Given the description of an element on the screen output the (x, y) to click on. 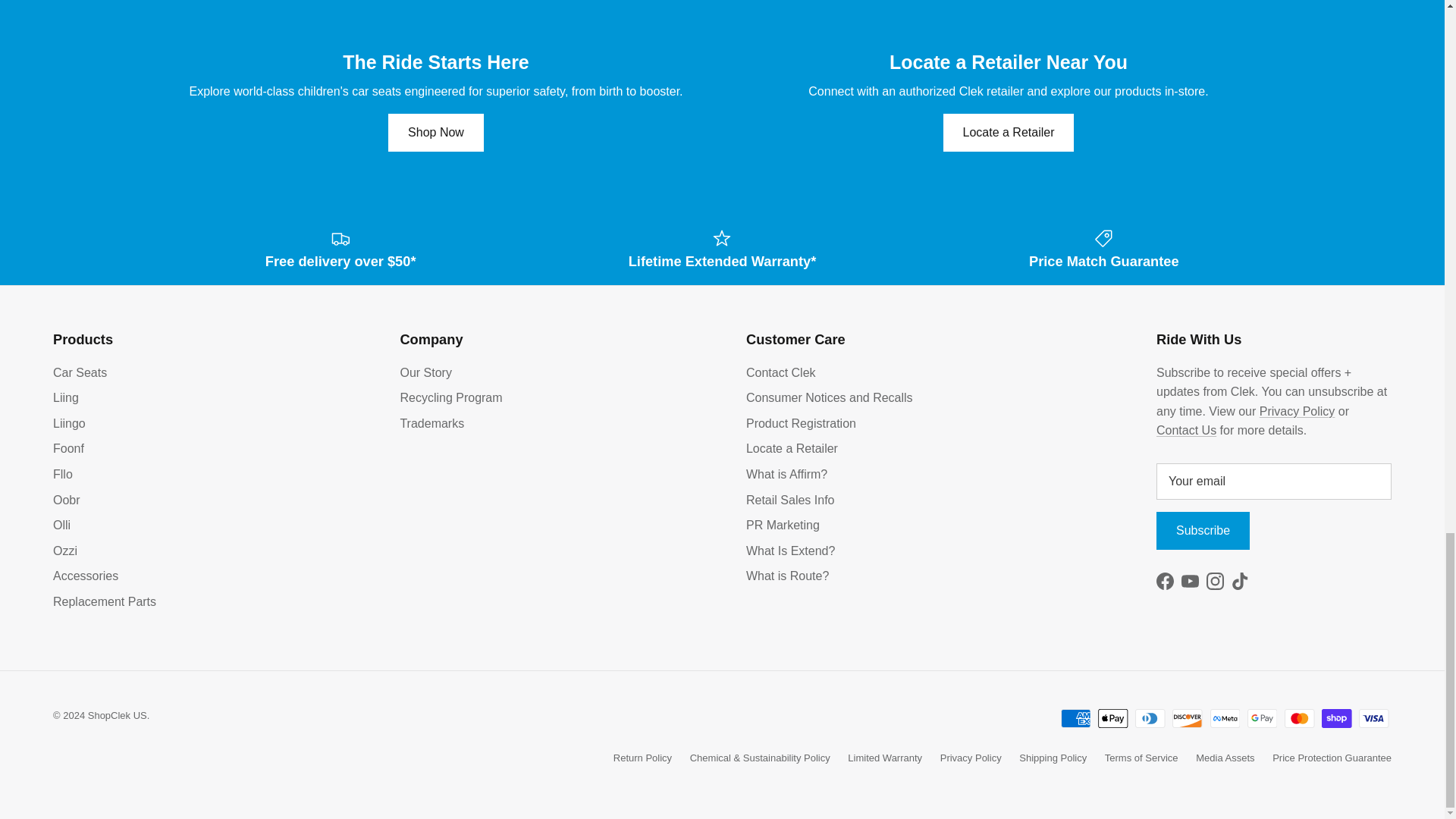
Apple Pay (1112, 718)
American Express (1075, 718)
Diners Club (1149, 718)
ShopClek US on YouTube (1189, 580)
ShopClek US on Facebook (1164, 580)
ShopClek US on Instagram (1215, 580)
ShopClek US on TikTok (1240, 580)
